Given the description of an element on the screen output the (x, y) to click on. 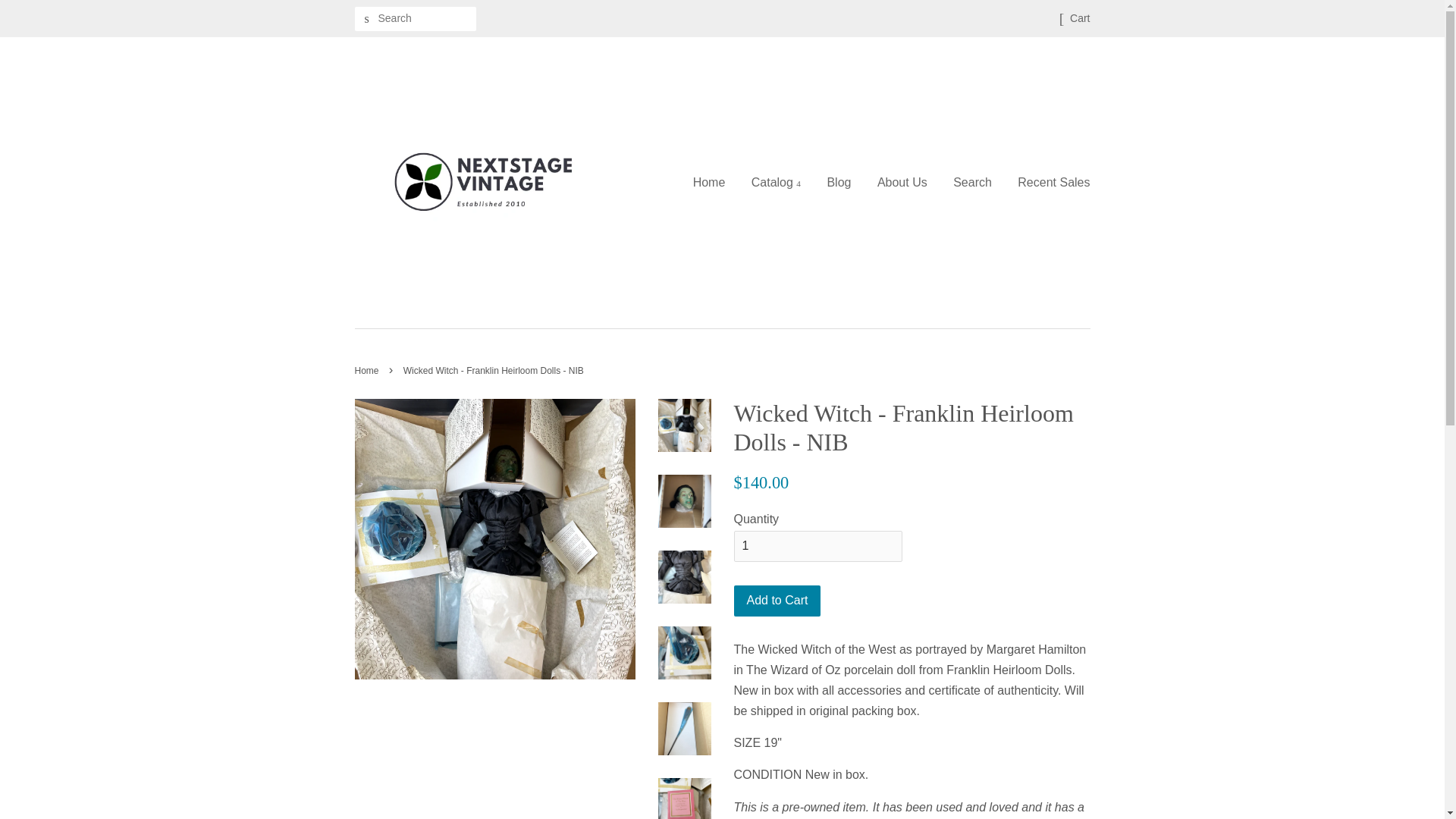
Back to the frontpage (368, 370)
Catalog (775, 181)
Cart (1079, 18)
Search (366, 18)
Home (714, 181)
1 (817, 545)
